Given the description of an element on the screen output the (x, y) to click on. 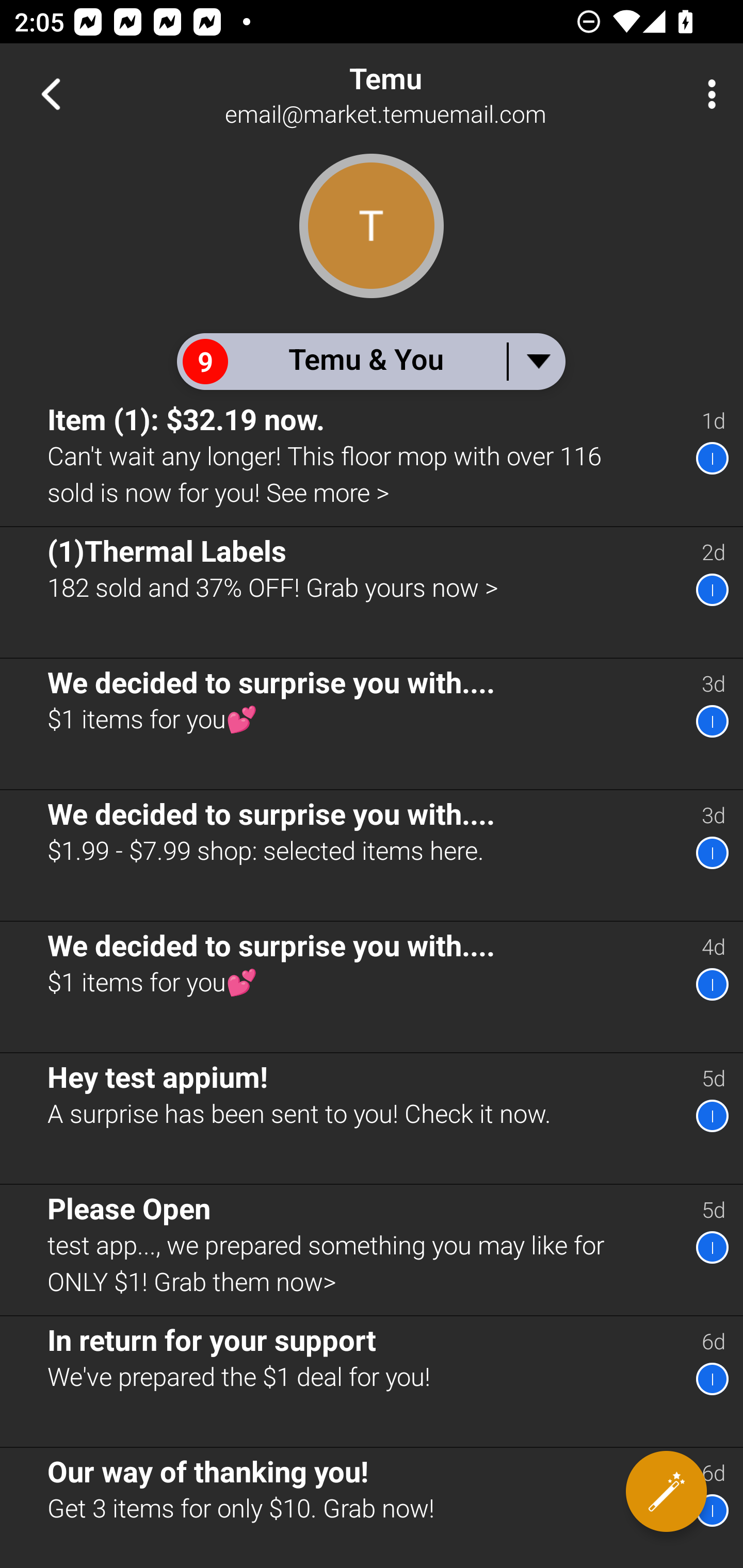
Navigate up (50, 93)
Temu email@market.temuemail.com (436, 93)
More Options (706, 93)
9 Temu & You (370, 361)
